Given the description of an element on the screen output the (x, y) to click on. 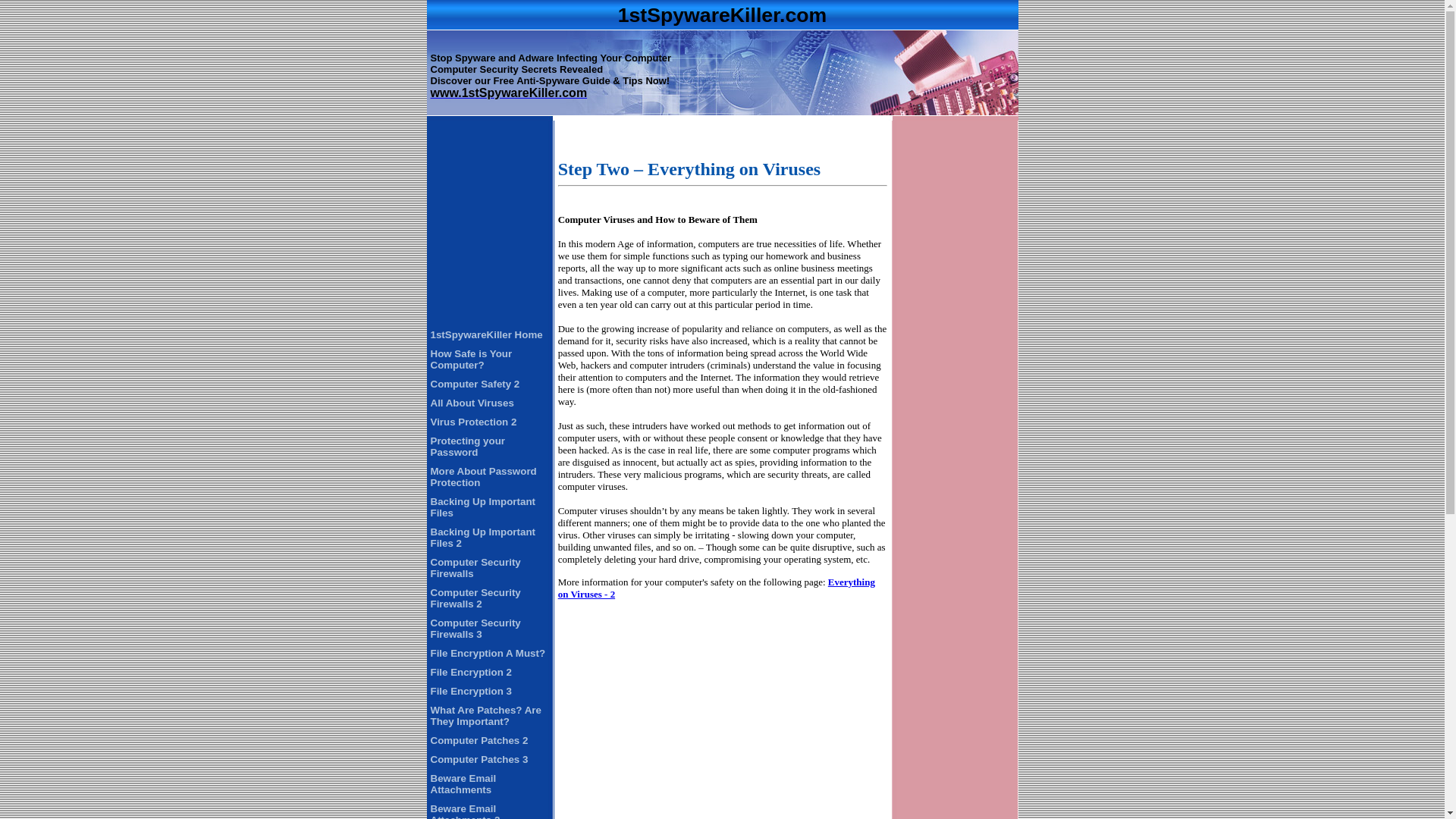
Computer Security Firewalls 2 Element type: text (475, 597)
File Encryption A Must? Element type: text (488, 652)
Everything on Viruses - 2 Element type: text (716, 587)
Backing Up Important Files 2 Element type: text (482, 537)
File Encryption 2 Element type: text (470, 671)
Computer Patches 3 Element type: text (479, 759)
File Encryption 3 Element type: text (470, 690)
www.1stSpywareKiller.com Element type: text (508, 93)
What Are Patches? Are They Important? Element type: text (485, 715)
Virus Protection 2 Element type: text (473, 421)
Computer Safety 2 Element type: text (475, 383)
Computer Security Firewalls 3 Element type: text (475, 628)
Backing Up Important Files Element type: text (482, 506)
More About Password Protection Element type: text (483, 476)
All About Viruses Element type: text (472, 402)
Protecting your Password Element type: text (467, 446)
1stSpywareKiller Home Element type: text (486, 334)
Computer Security Firewalls Element type: text (475, 567)
Beware Email Attachments Element type: text (463, 783)
Computer Patches 2 Element type: text (479, 740)
How Safe is Your Computer? Element type: text (471, 359)
